Given the description of an element on the screen output the (x, y) to click on. 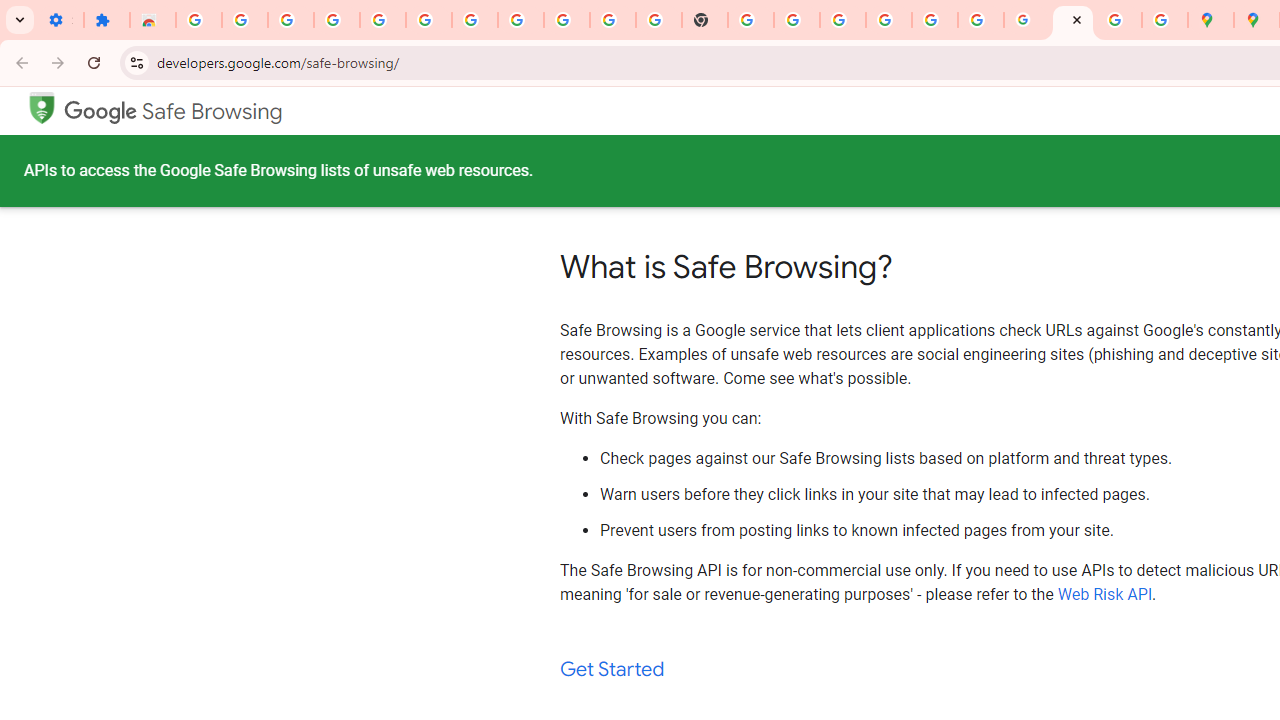
Get Started (612, 669)
Sign in - Google Accounts (474, 20)
Google (101, 111)
Settings - On startup (60, 20)
YouTube (613, 20)
